Given the description of an element on the screen output the (x, y) to click on. 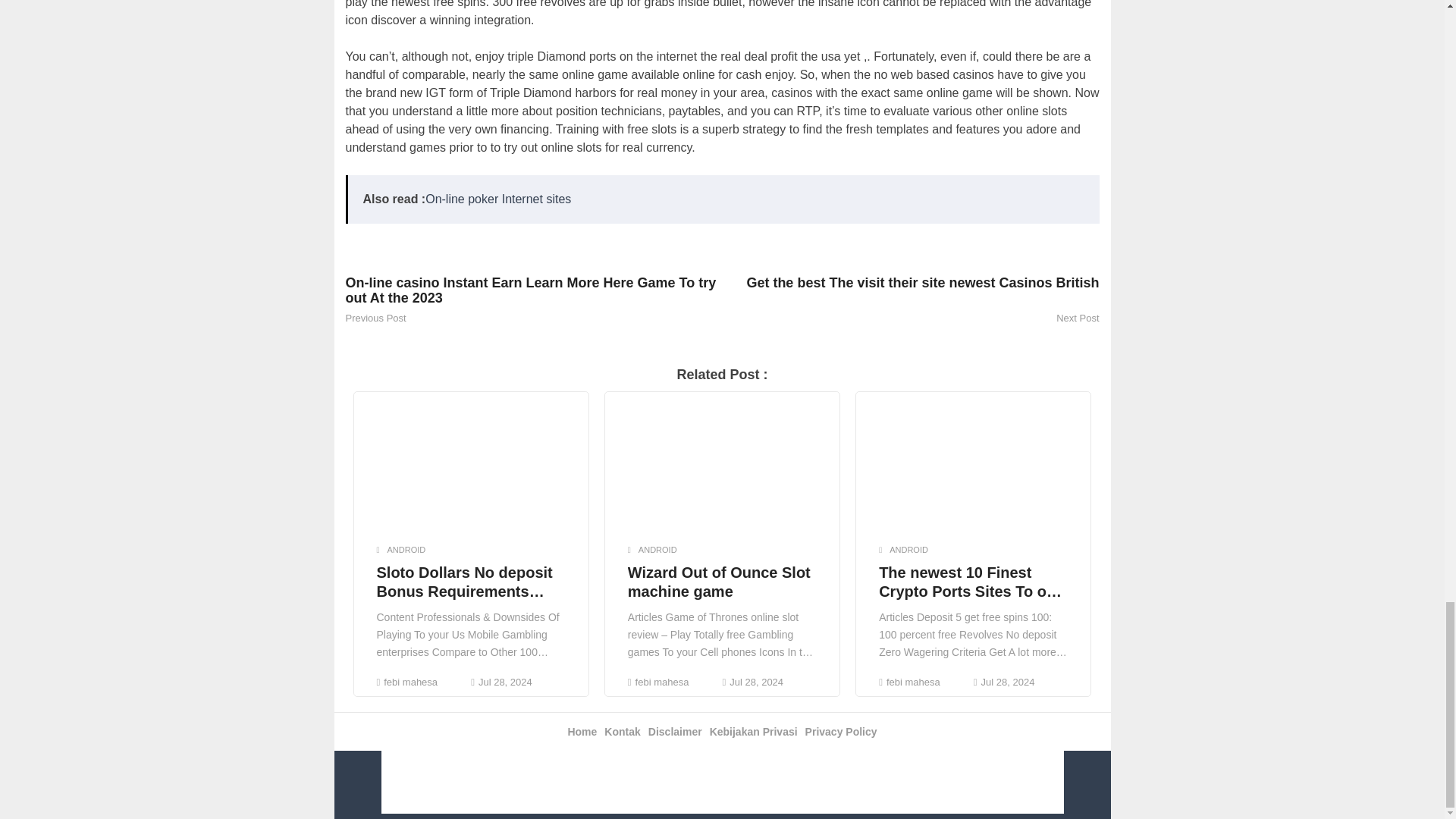
Privacy Policy (841, 731)
On-line poker Internet sites (497, 198)
Disclaimer (674, 731)
Kebijakan Privasi (753, 731)
Get the best The visit their site newest Casinos British (910, 290)
Kontak (622, 731)
